Given the description of an element on the screen output the (x, y) to click on. 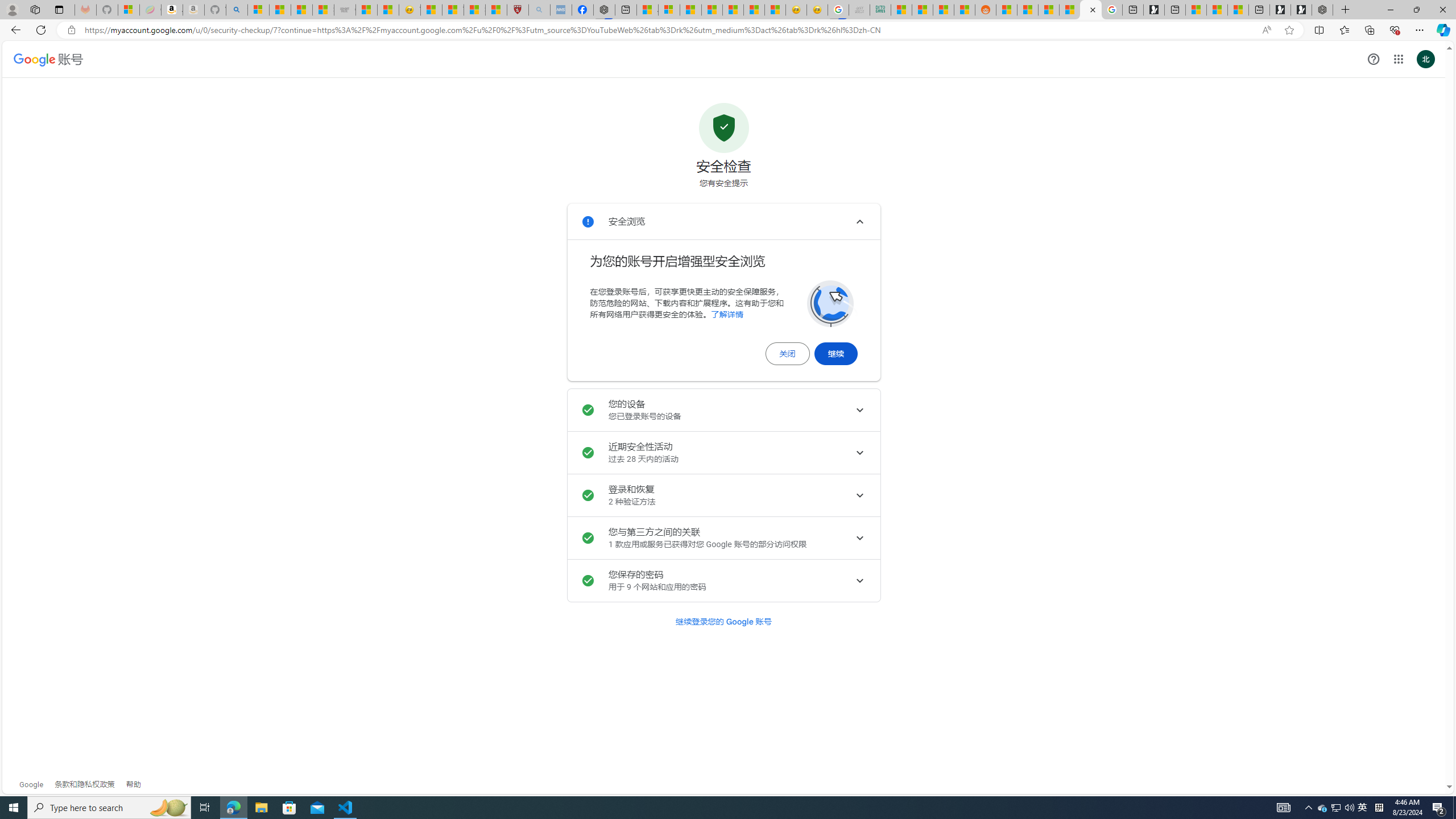
DITOGAMES AG Imprint (879, 9)
